Given the description of an element on the screen output the (x, y) to click on. 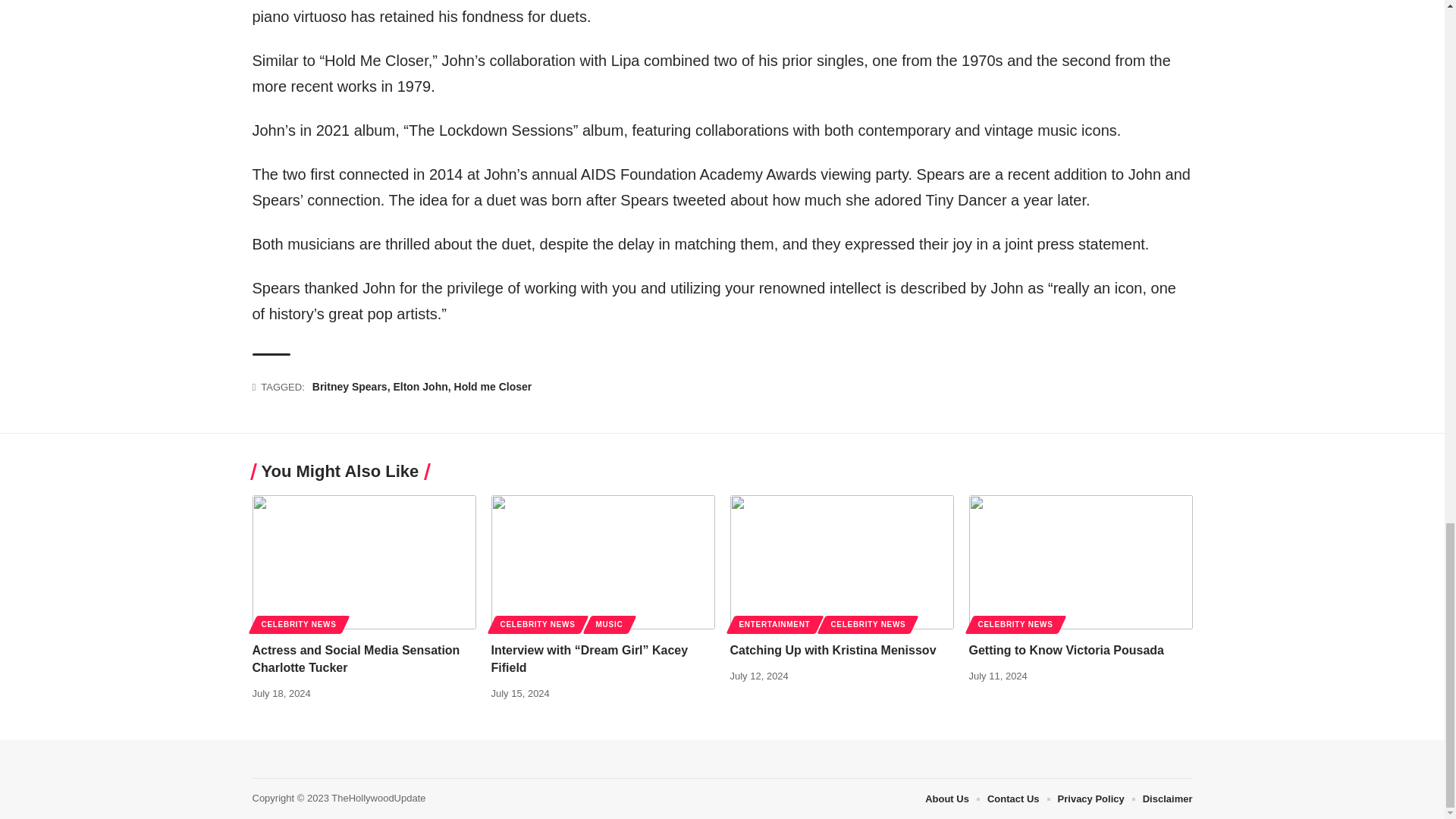
Actress and Social Media Sensation Charlotte Tucker (363, 562)
Catching Up with Kristina Menissov (841, 562)
Getting to Know Victoria Pousada (1080, 562)
